Given the description of an element on the screen output the (x, y) to click on. 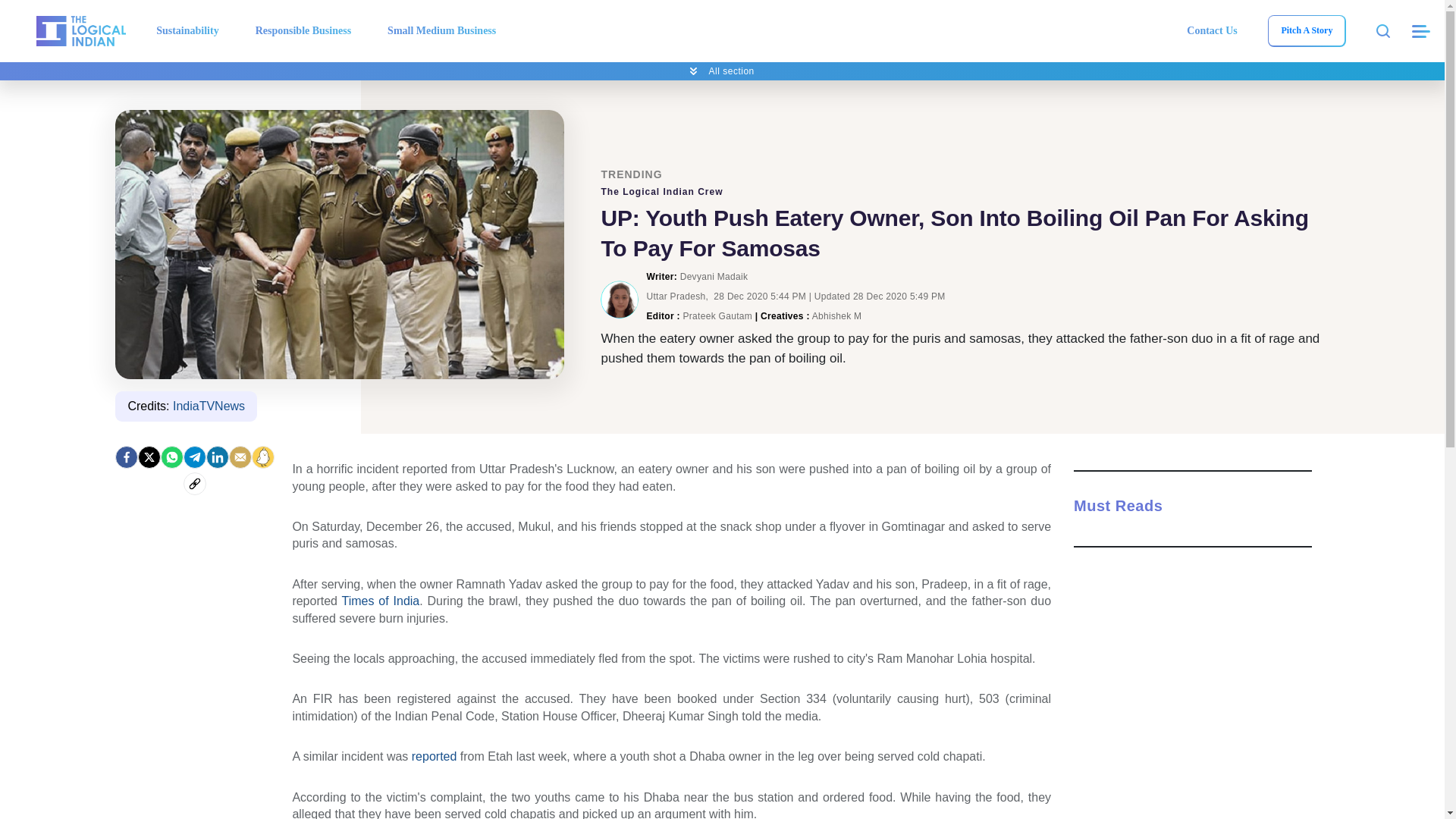
Devyani Madaik (619, 299)
Responsible Business (303, 30)
LinkedIn (217, 456)
Small Medium Business (441, 30)
Sustainability (186, 30)
Contact Us (1212, 30)
Pitch A Story (1305, 30)
Share by Email (239, 456)
The Logical Indian (80, 30)
